Given the description of an element on the screen output the (x, y) to click on. 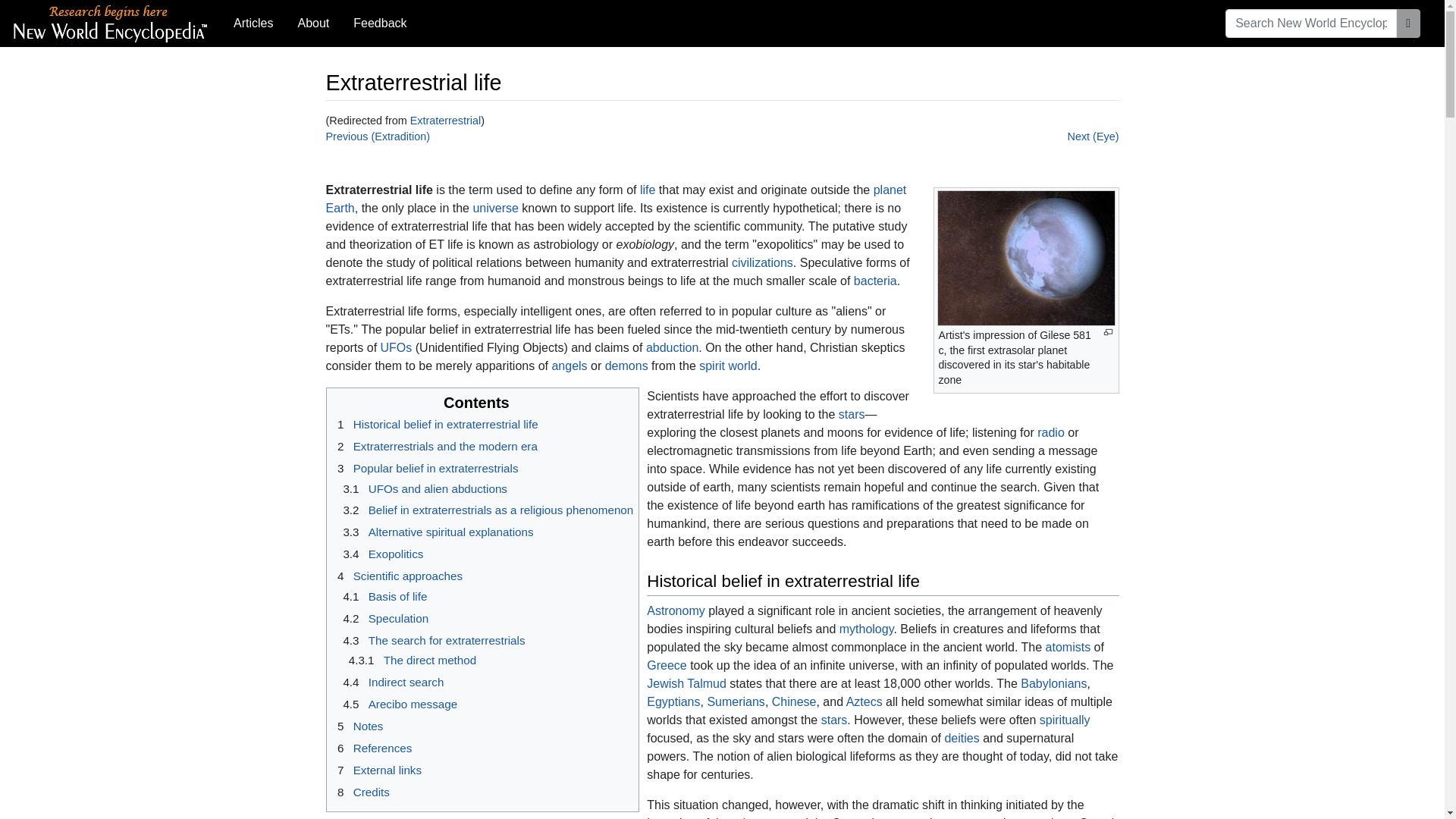
angels (568, 365)
Cosmology (1042, 817)
3.4 Exopolitics (380, 553)
3 Popular belief in extraterrestrials (424, 468)
Extradition (378, 136)
demons (626, 365)
deities (960, 738)
2 Extraterrestrials and the modern era (434, 445)
telescope (758, 817)
Bacterium (874, 280)
4.2 Speculation (383, 617)
Aztecs (863, 701)
Angel (568, 365)
About (312, 23)
Articles (253, 23)
